Given the description of an element on the screen output the (x, y) to click on. 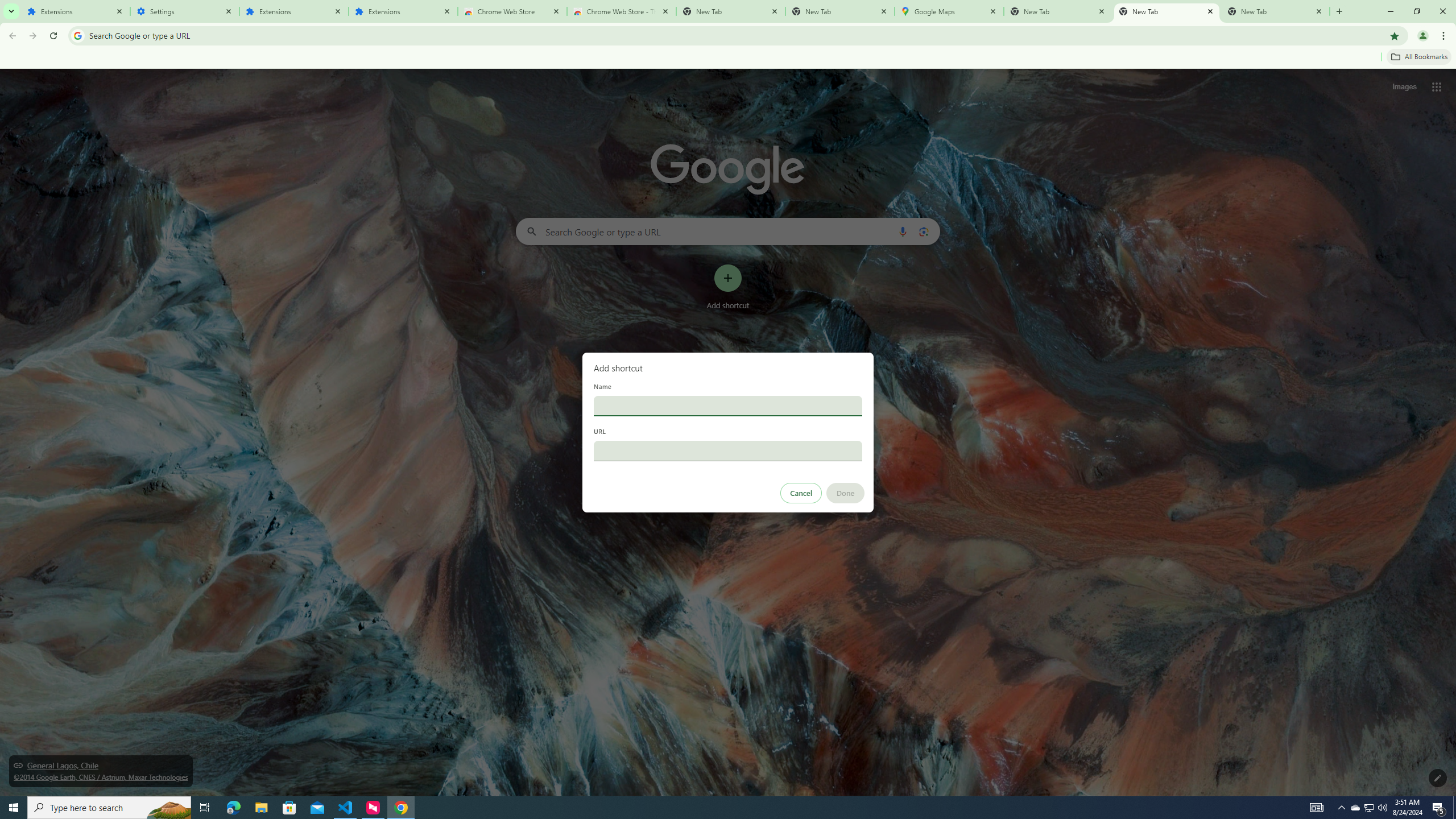
URL (727, 450)
